Given the description of an element on the screen output the (x, y) to click on. 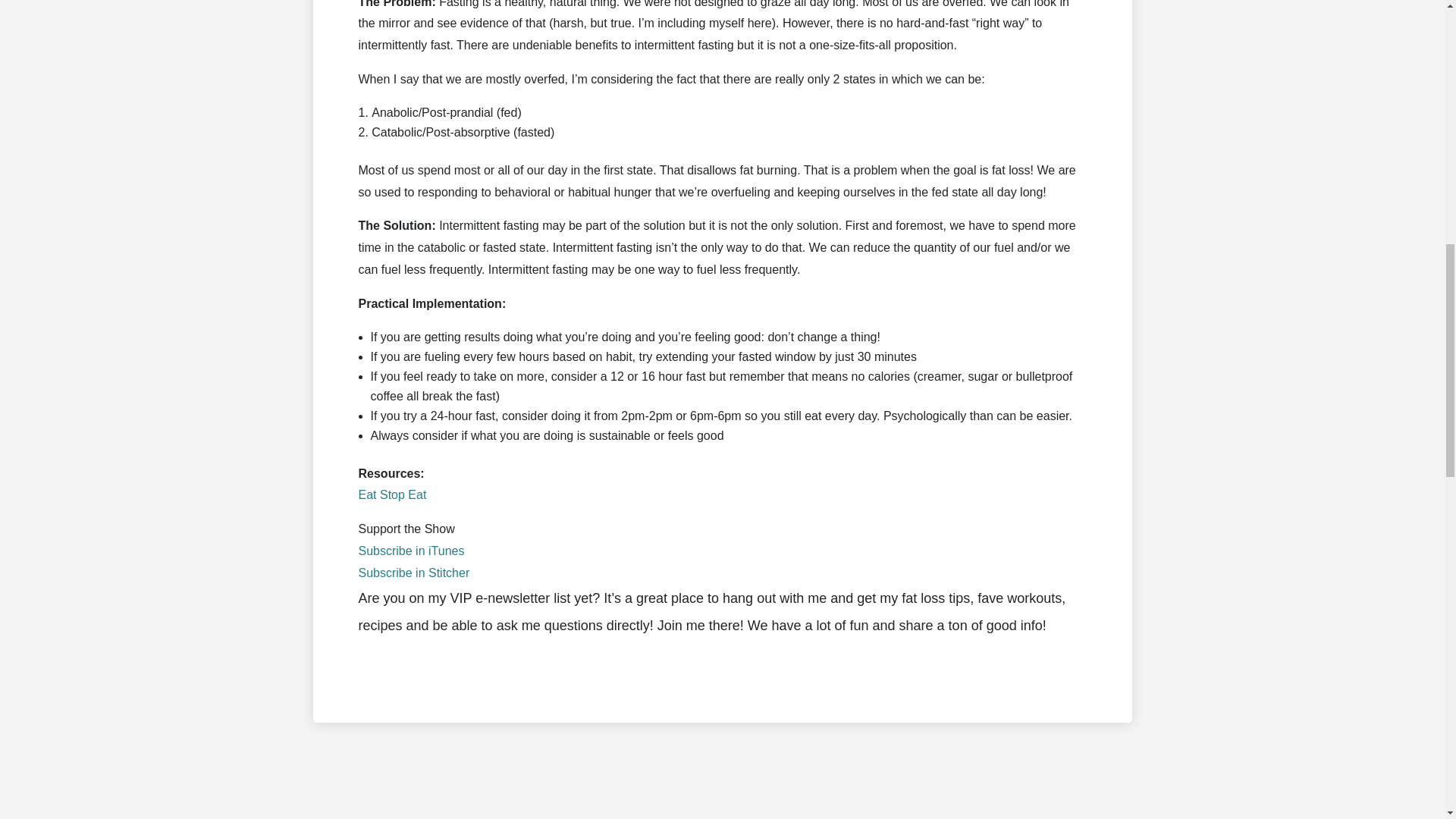
Subscribe in Stitcher (413, 572)
Eat Stop Eat (392, 494)
Subscribe in iTunes (411, 550)
VIP e-newsletter (499, 597)
